Given the description of an element on the screen output the (x, y) to click on. 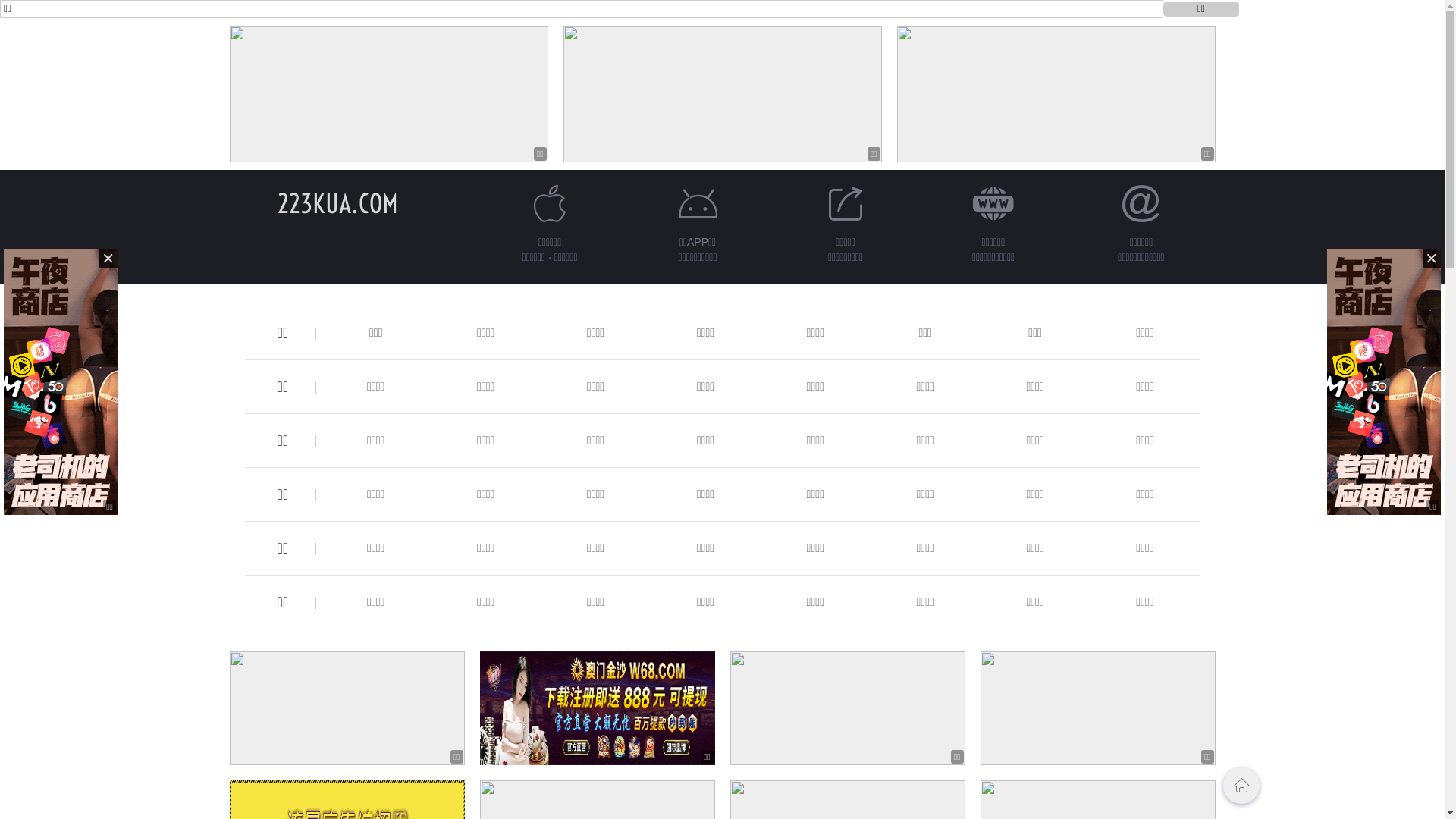
223KUA.COM Element type: text (337, 203)
